Given the description of an element on the screen output the (x, y) to click on. 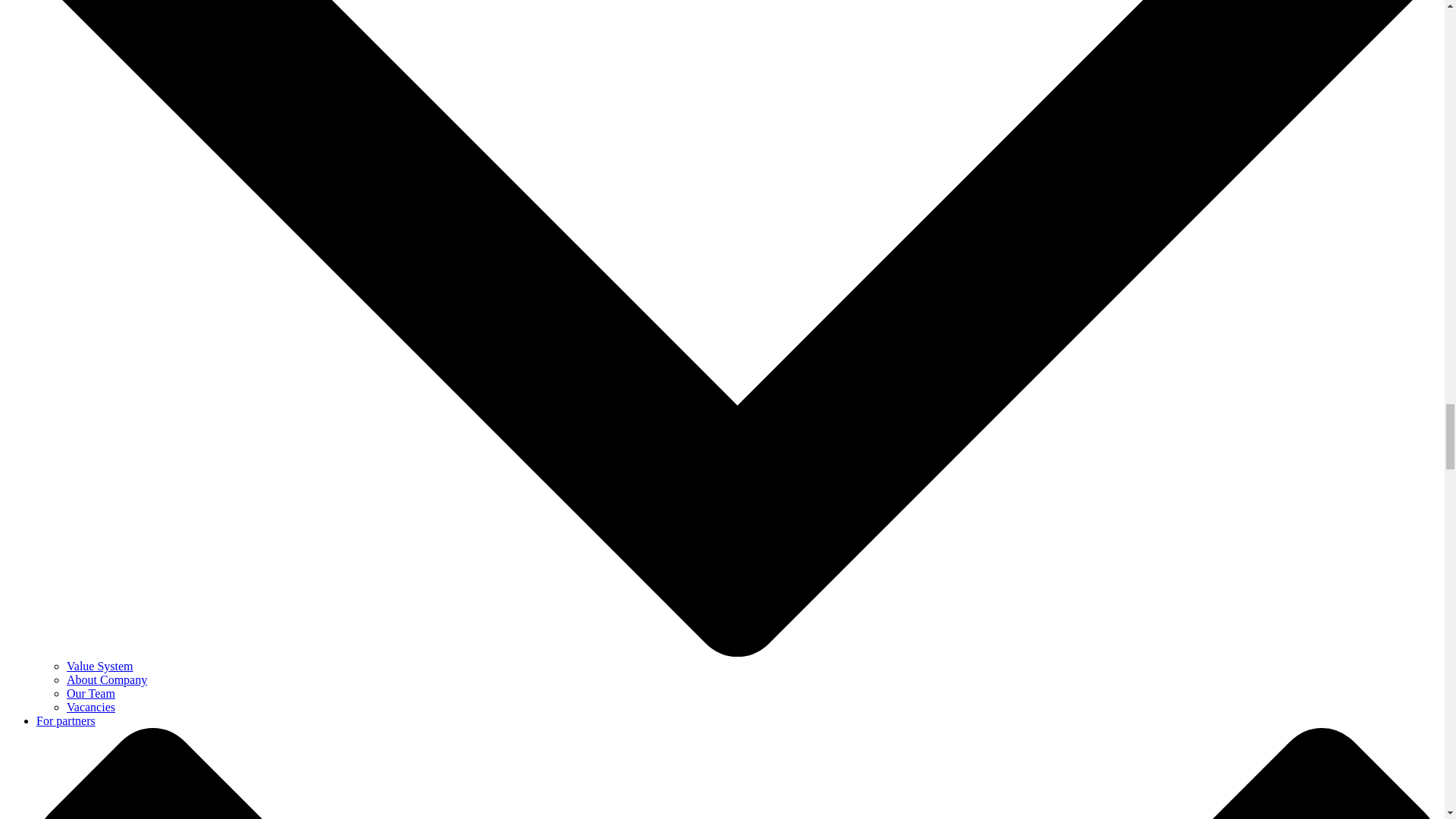
Our Team (90, 693)
About Company (106, 679)
Value System (99, 666)
Vacancies (90, 707)
For partners (66, 720)
